Given the description of an element on the screen output the (x, y) to click on. 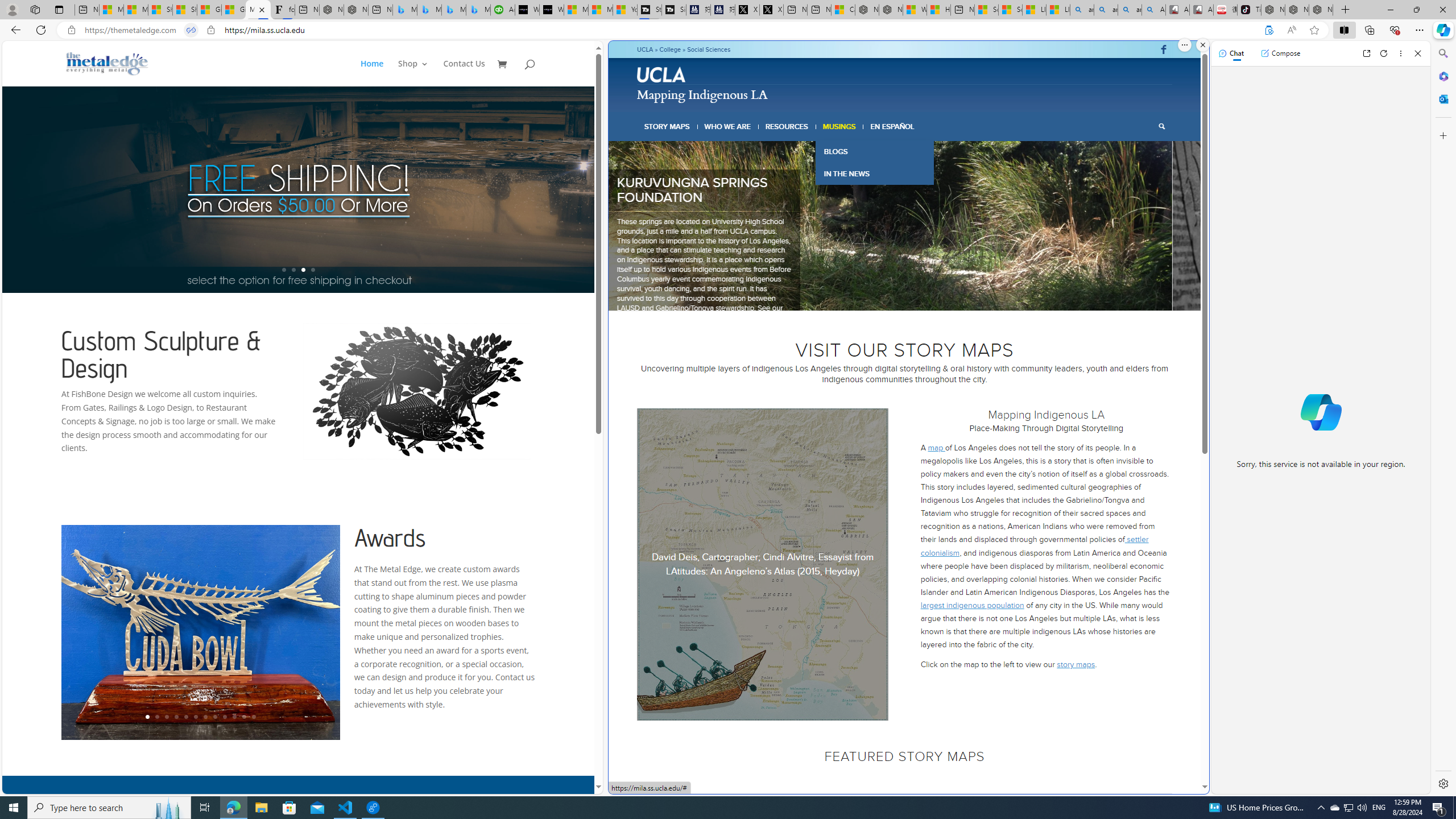
Settings (1442, 783)
amazon - Search Images (1129, 9)
More options. (1183, 45)
Microsoft Bing Travel - Shangri-La Hotel Bangkok (478, 9)
Open link in new tab (1366, 53)
Metal Fish Sculptures & Metal Designs (106, 63)
UCLA logo (662, 76)
Streaming Coverage | T3 (648, 9)
Amazon Echo Robot - Search Images (1153, 9)
MUSINGS (839, 126)
5 (908, 296)
Wildlife - MSN (914, 9)
